Given the description of an element on the screen output the (x, y) to click on. 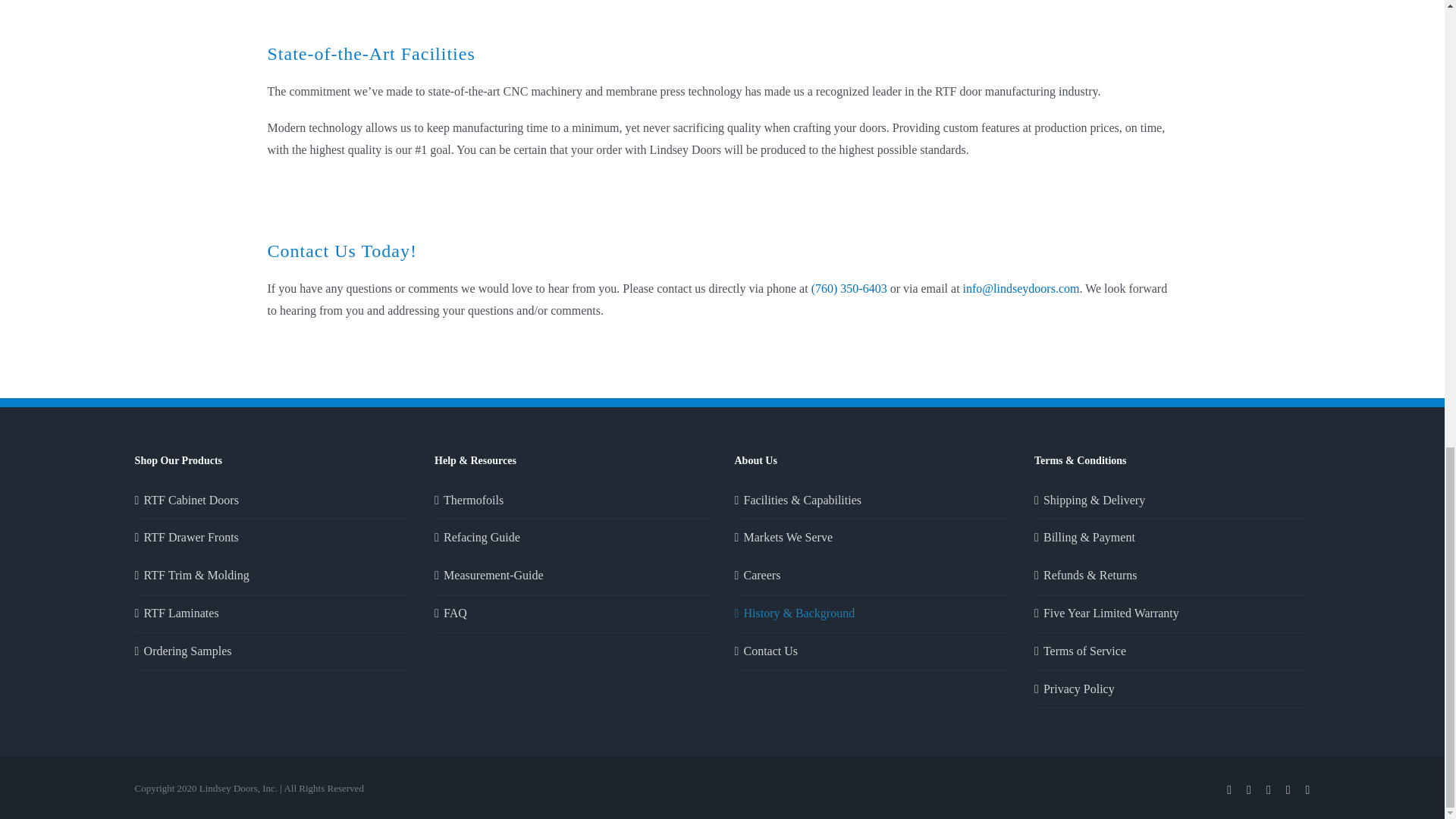
Terms of Service (1172, 651)
Contact Us (871, 651)
RTF Cabinet Doors (273, 500)
Refacing Guide (572, 537)
FAQ (572, 613)
Five Year Limited Warranty (1172, 613)
Ordering Samples (273, 651)
RTF Drawer Fronts (273, 537)
Measurement-Guide (572, 576)
RTF Laminates (273, 613)
